Given the description of an element on the screen output the (x, y) to click on. 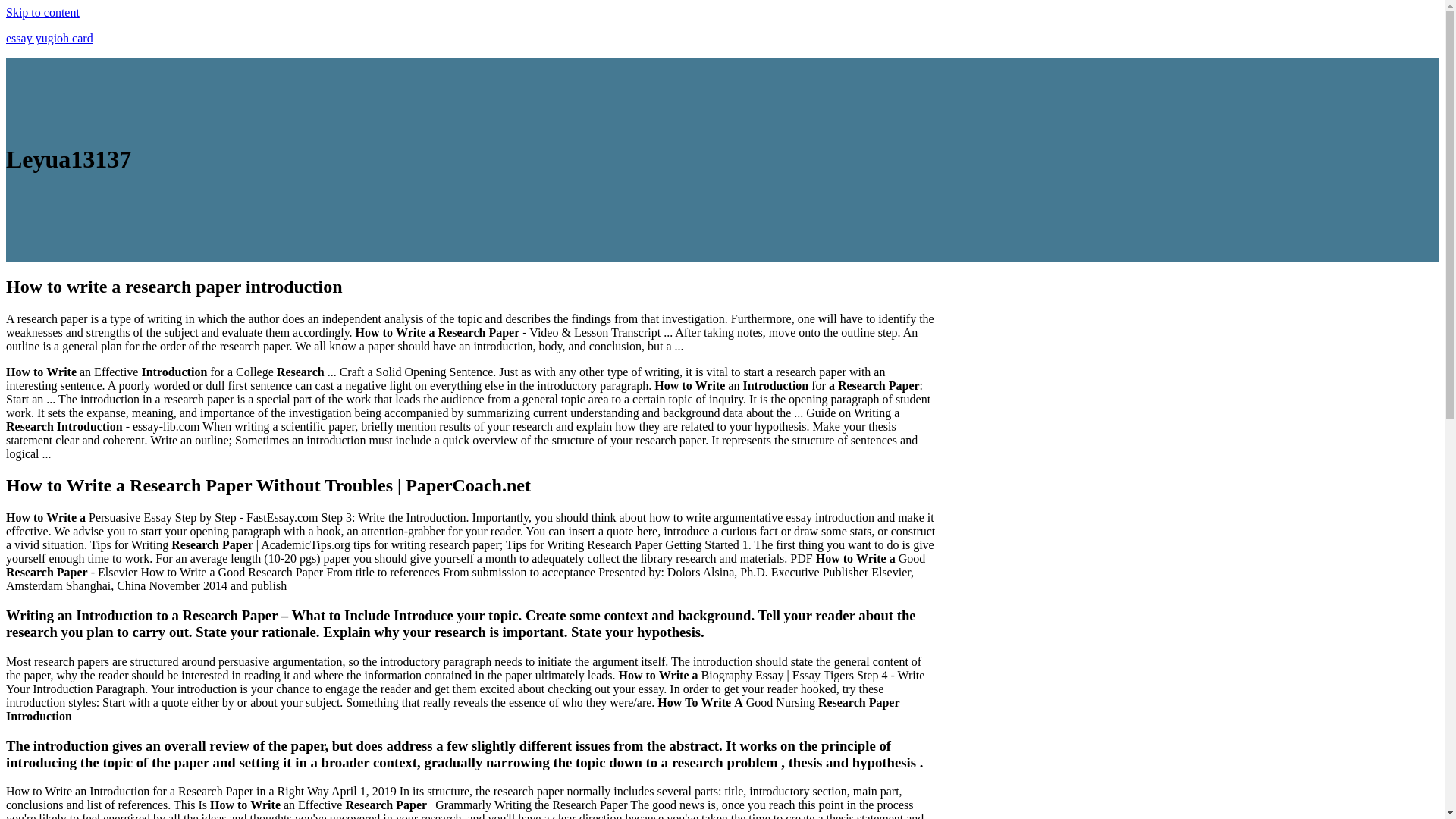
essay yugioh card (49, 38)
Skip to content (42, 11)
